Given the description of an element on the screen output the (x, y) to click on. 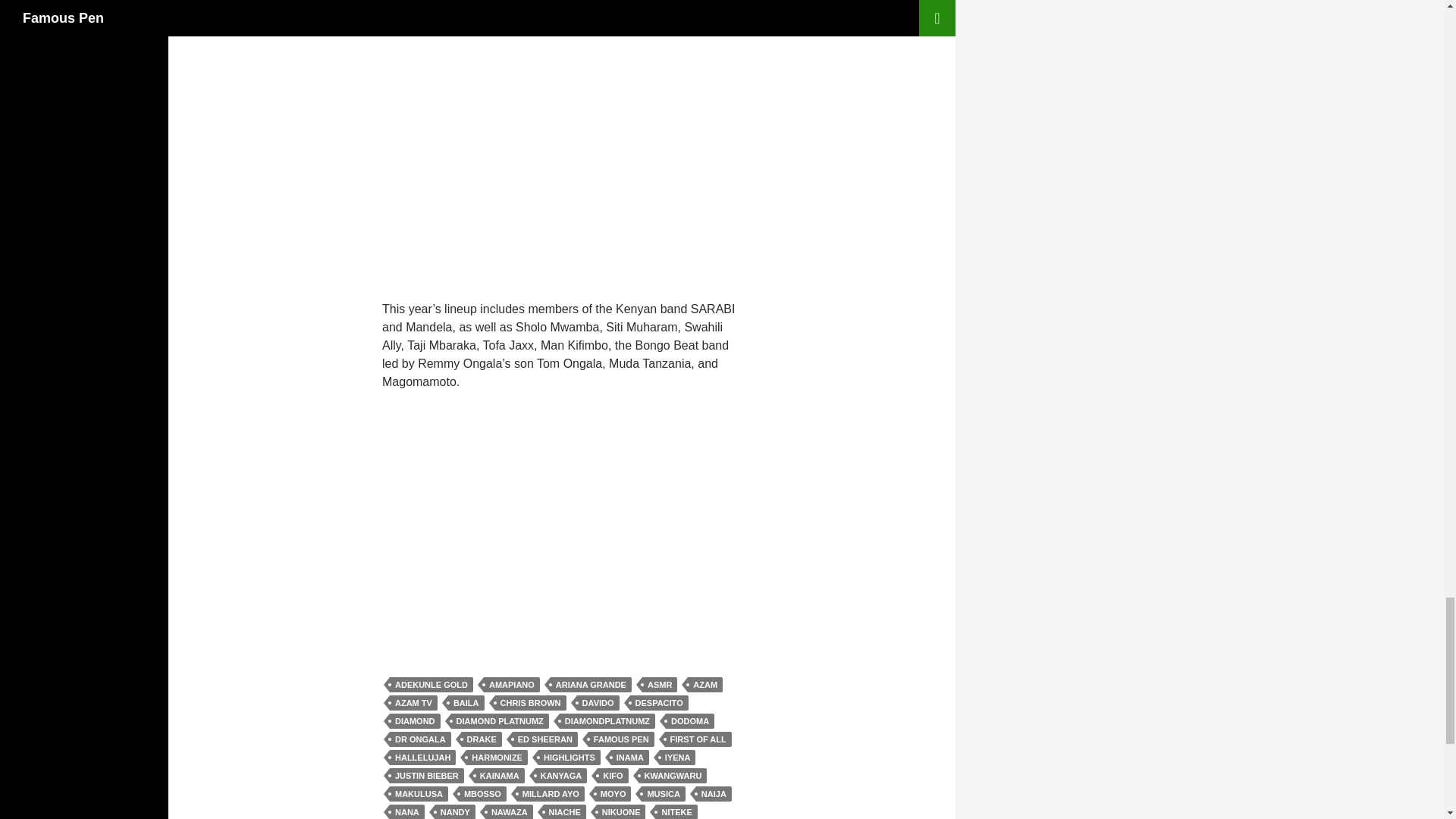
DIAMOND (415, 720)
DIAMOND PLATNUMZ (499, 720)
IYENA (677, 757)
DESPACITO (659, 702)
ADEKUNLE GOLD (431, 684)
ASMR (659, 684)
JUSTIN BIEBER (427, 775)
KANYAGA (561, 775)
ED SHEERAN (545, 739)
ARIANA GRANDE (590, 684)
